Given the description of an element on the screen output the (x, y) to click on. 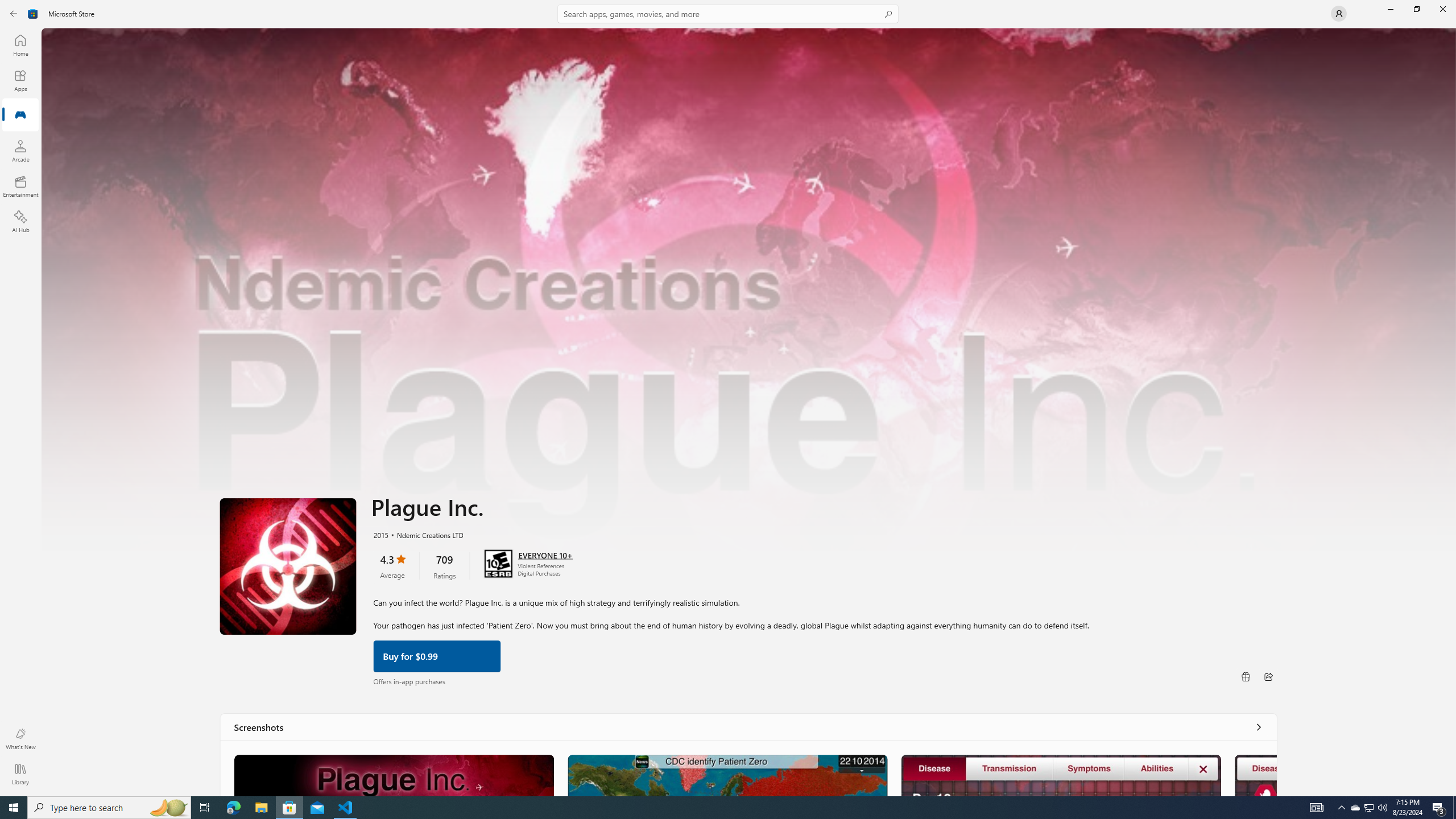
AI Hub (20, 221)
User profile (1338, 13)
Age rating: EVERYONE 10+. Click for more information. (545, 554)
Apps (20, 80)
Back (13, 13)
What's New (20, 738)
Gaming (20, 115)
Buy as gift (1245, 676)
Ndemic Creations LTD (425, 533)
Restore Microsoft Store (1416, 9)
AutomationID: NavigationControl (728, 398)
Class: Image (32, 13)
4.3 stars. Click to skip to ratings and reviews (392, 564)
